Given the description of an element on the screen output the (x, y) to click on. 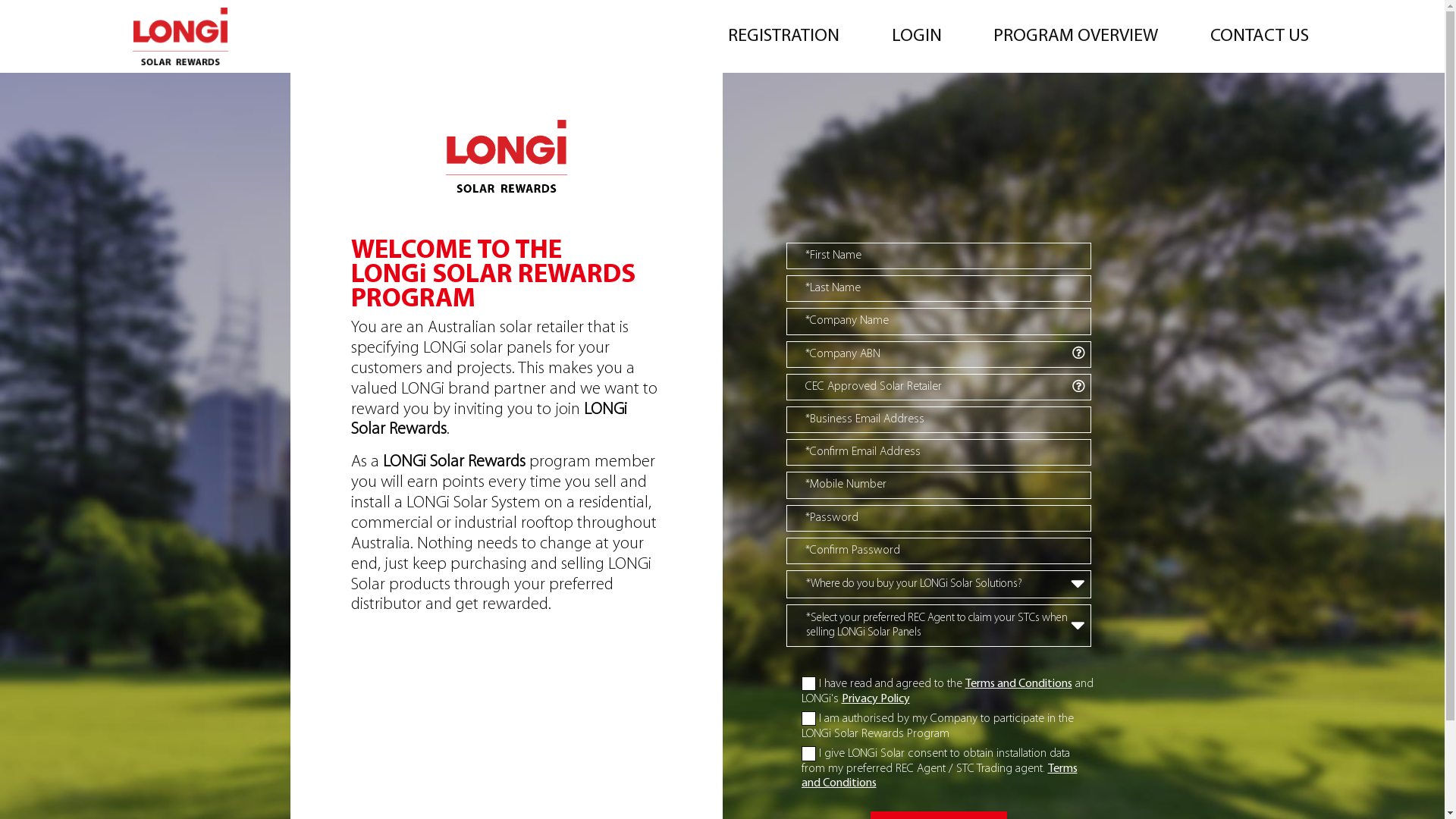
LOGIN Element type: text (916, 36)
REGISTRATION Element type: text (783, 36)
Terms and Conditions Element type: text (1018, 683)
Terms and Conditions Element type: text (938, 775)
CONTACT US Element type: text (1259, 36)
PROGRAM OVERVIEW Element type: text (1075, 36)
Privacy Policy Element type: text (875, 699)
